Given the description of an element on the screen output the (x, y) to click on. 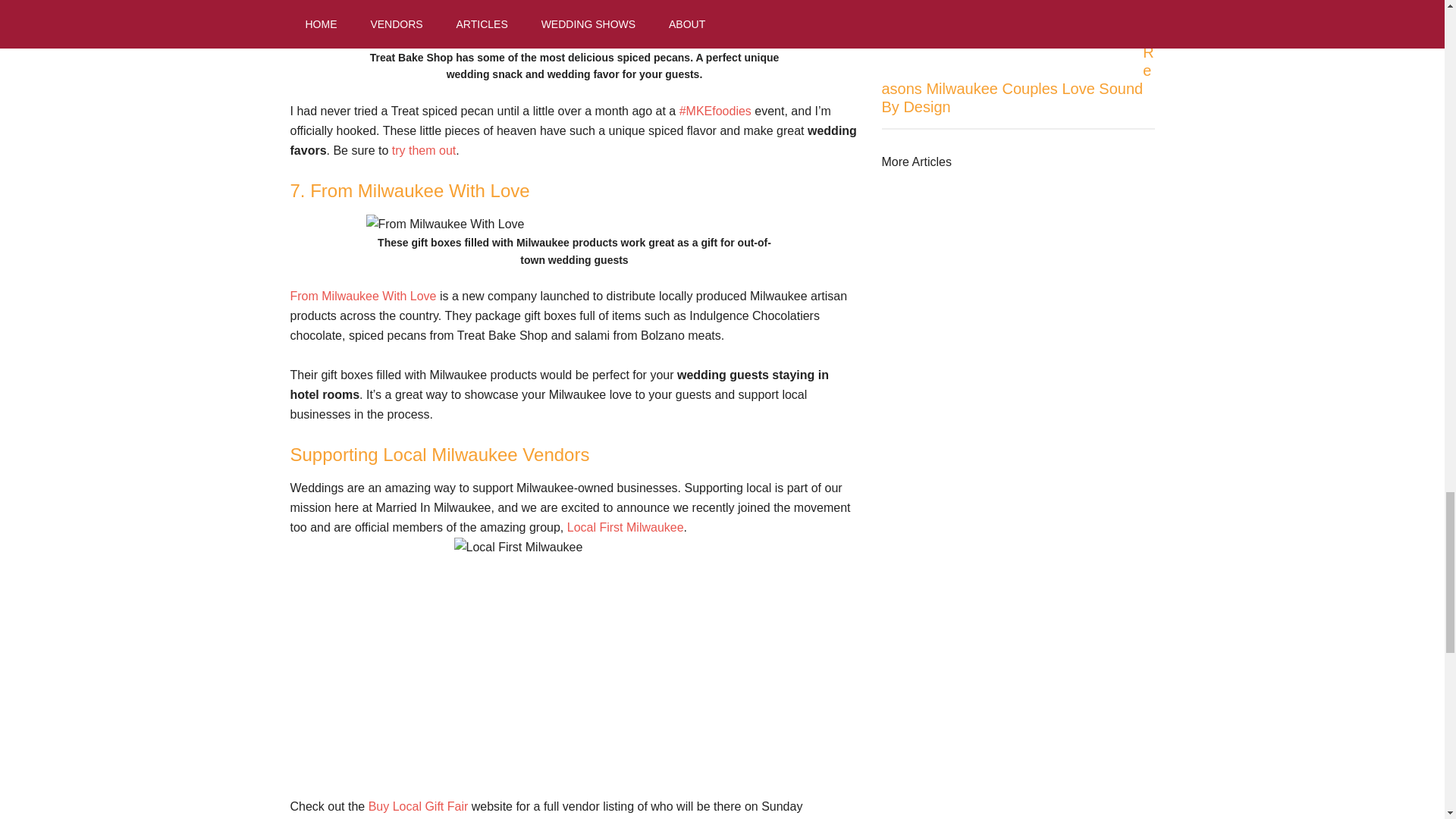
Buy Local Gift Fair - Milwaukee (418, 806)
MKEfoodies (715, 110)
Articles (915, 161)
